Given the description of an element on the screen output the (x, y) to click on. 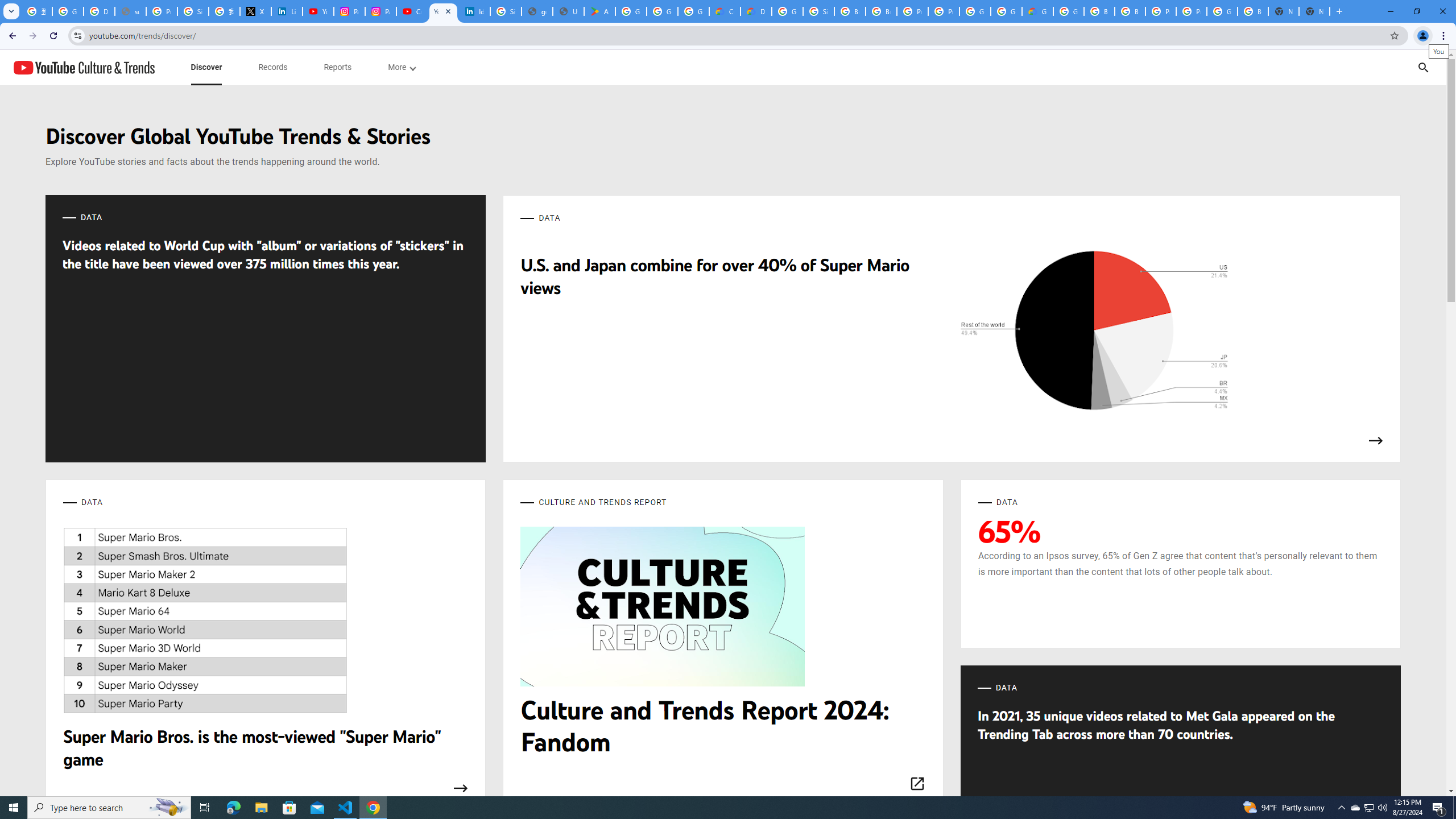
subnav-Reports menupopup (337, 67)
Google Cloud Platform (1068, 11)
subnav-Records menupopup (272, 67)
YouTube Content Monetization Policies - How YouTube Works (318, 11)
YouTube Culture & Trends (83, 67)
Browse Chrome as a guest - Computer - Google Chrome Help (881, 11)
Google Cloud Platform (1005, 11)
